Given the description of an element on the screen output the (x, y) to click on. 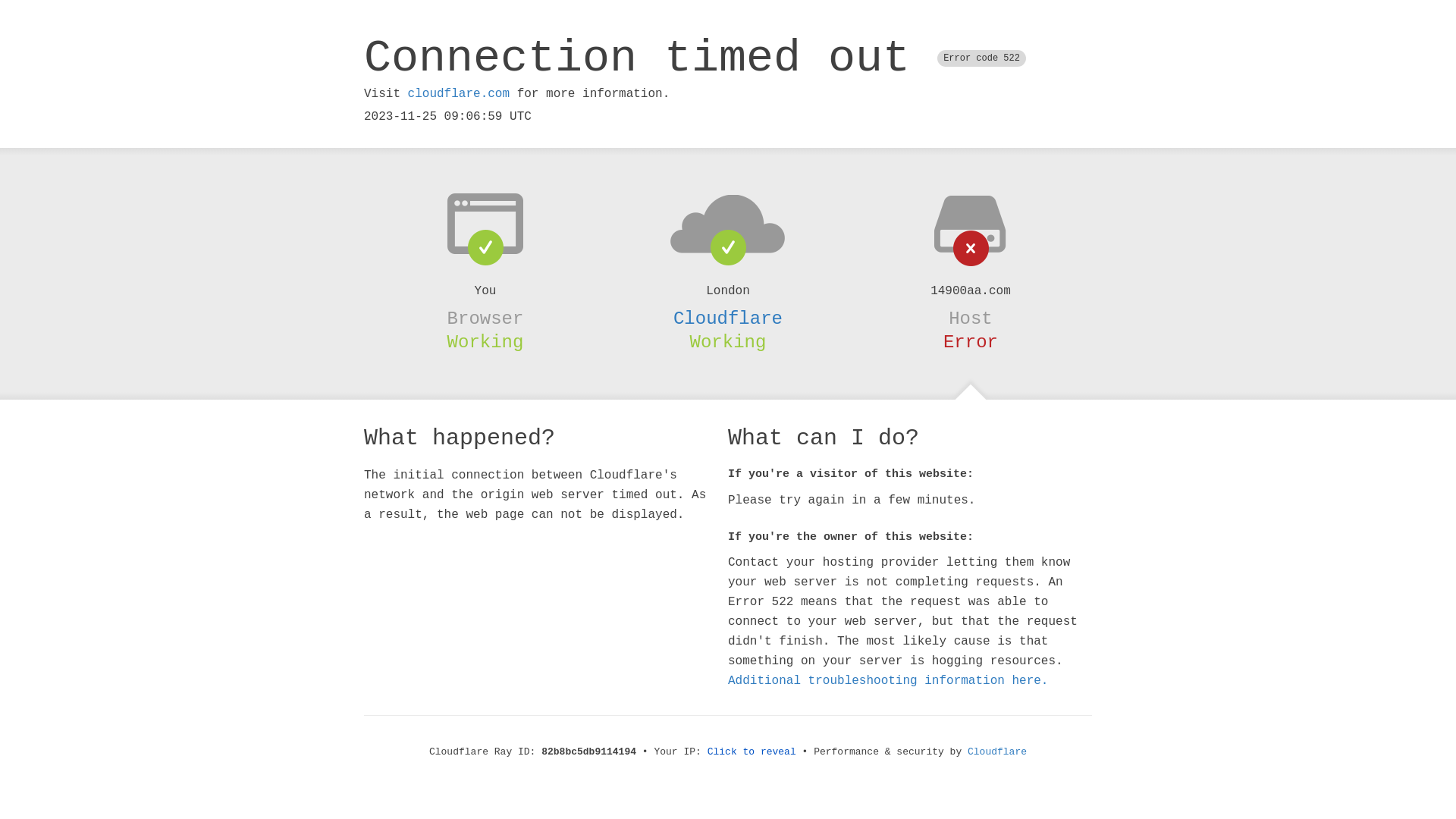
Additional troubleshooting information here. Element type: text (888, 680)
Cloudflare Element type: text (727, 318)
Cloudflare Element type: text (996, 751)
Click to reveal Element type: text (751, 751)
cloudflare.com Element type: text (458, 93)
